Given the description of an element on the screen output the (x, y) to click on. 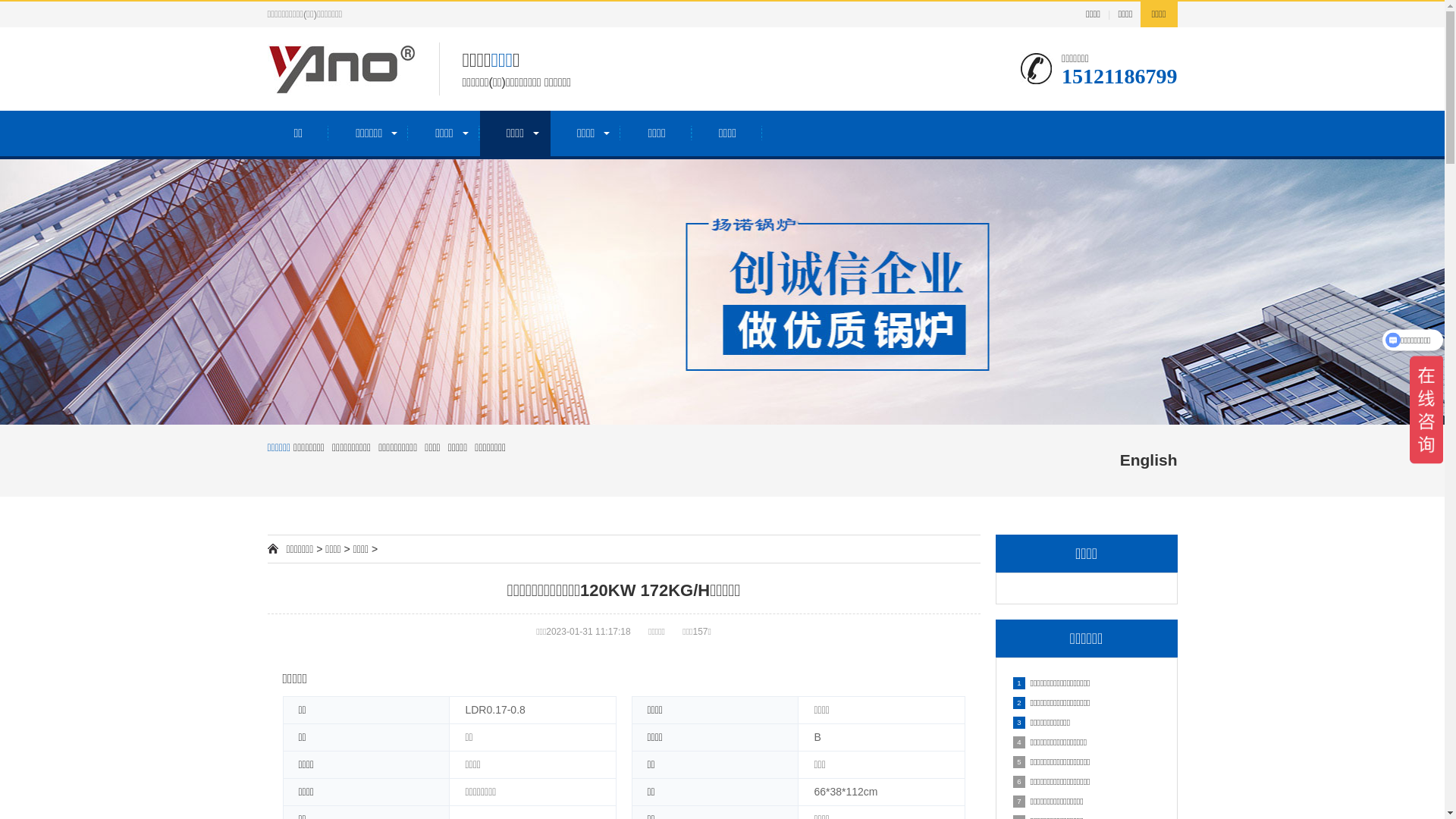
English Element type: text (1148, 459)
